Given the description of an element on the screen output the (x, y) to click on. 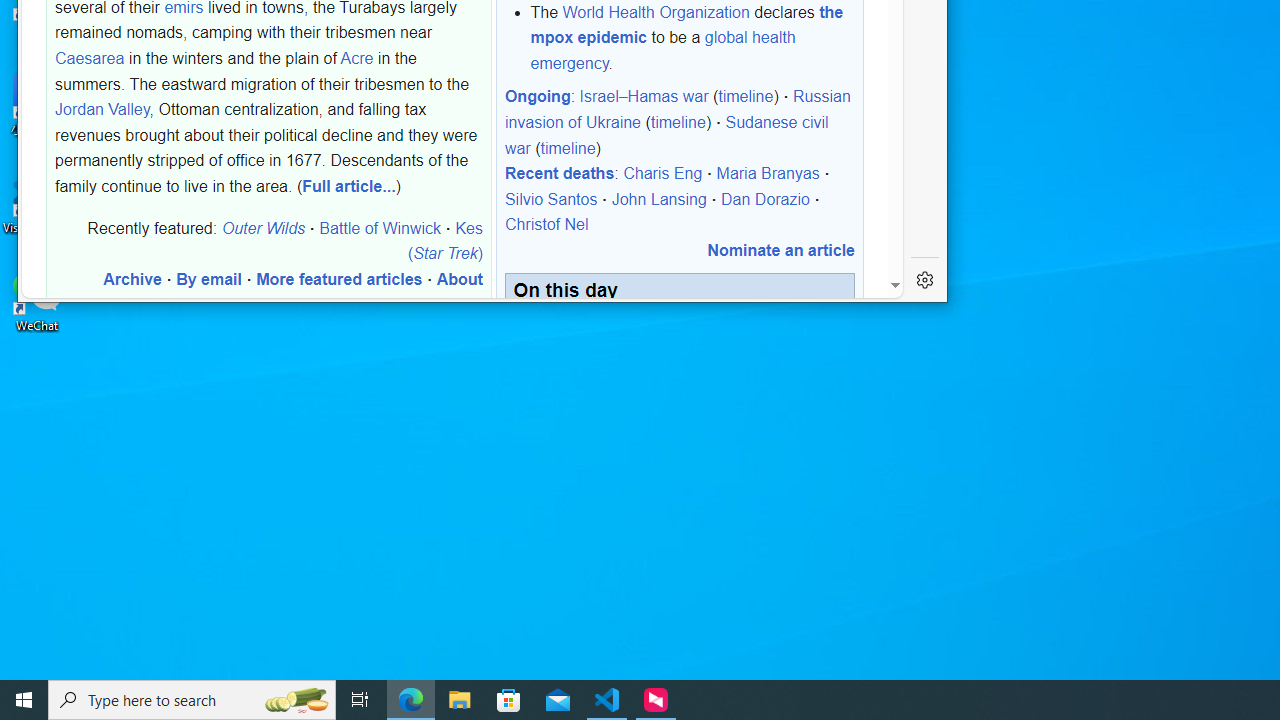
Search highlights icon opens search home window (295, 699)
Task View (359, 699)
Microsoft Edge - 1 running window (411, 699)
File Explorer (460, 699)
Start (24, 699)
Visual Studio Code - 1 running window (607, 699)
Type here to search (191, 699)
Microsoft Store (509, 699)
